Given the description of an element on the screen output the (x, y) to click on. 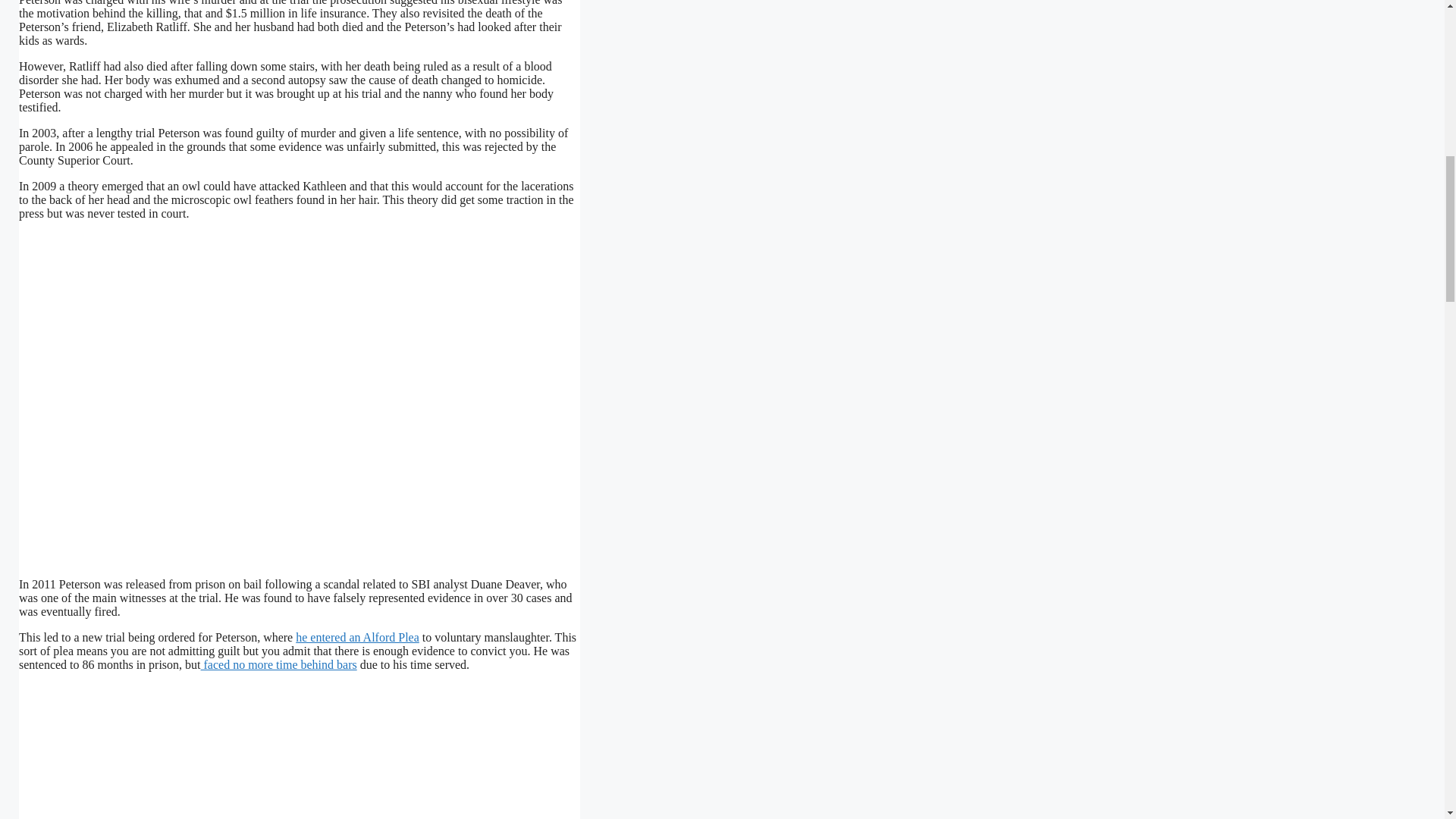
he entered an Alford Plea (357, 636)
faced no more time behind bars (278, 664)
Michael Peterson accepts plea deal, walks free (311, 751)
